Given the description of an element on the screen output the (x, y) to click on. 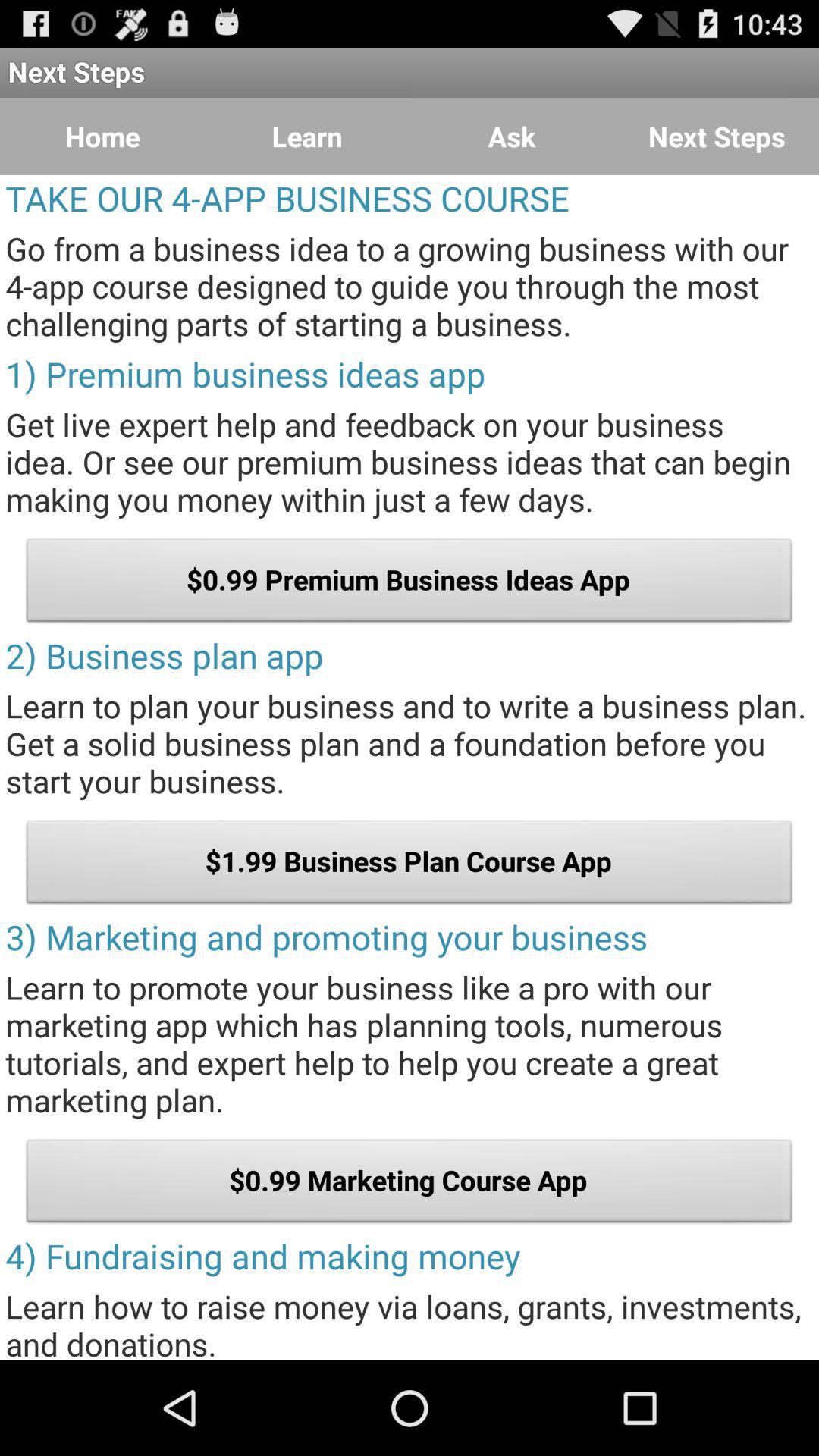
open icon above take our 4 app (102, 136)
